Given the description of an element on the screen output the (x, y) to click on. 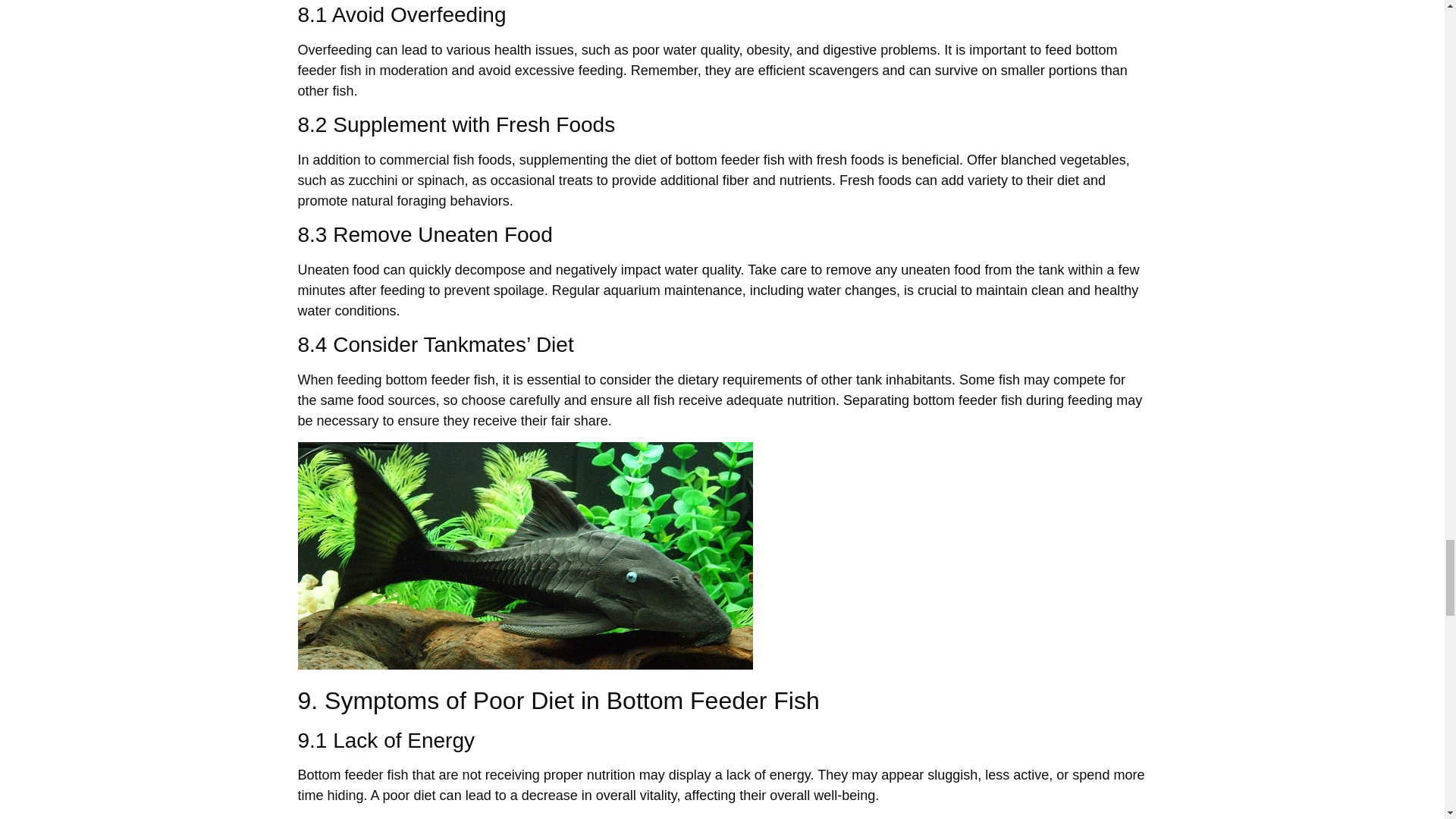
The Ultimate Guide to Bottom Feeder Fish Food (524, 555)
